Given the description of an element on the screen output the (x, y) to click on. 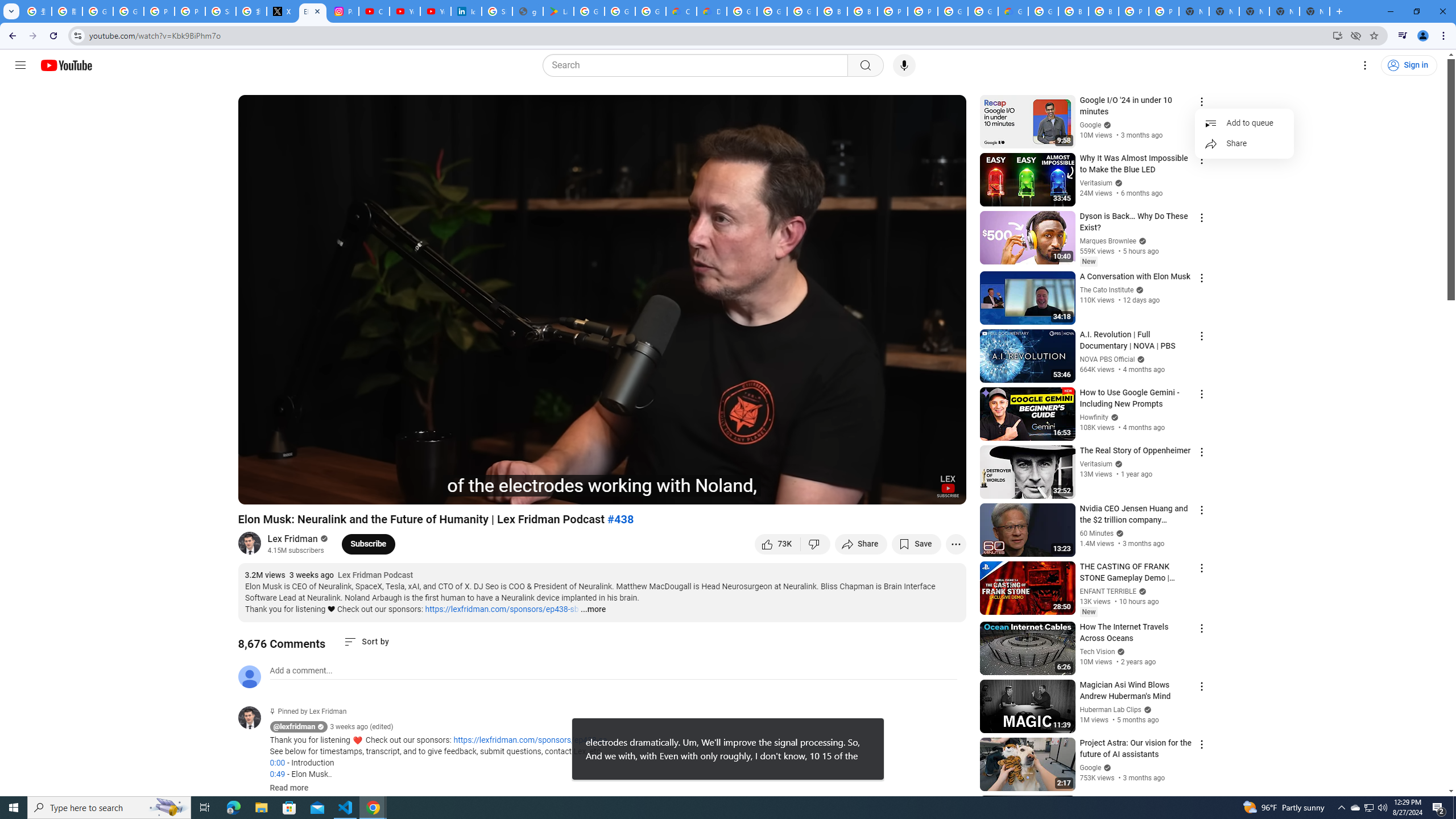
More actions (955, 543)
Google Cloud Platform (741, 11)
Seek slider (601, 476)
Google Cloud Platform (982, 11)
New (1087, 611)
YouTube Home (66, 65)
Play (k) (257, 490)
AutomationID: simplebox-placeholder (301, 670)
